Given the description of an element on the screen output the (x, y) to click on. 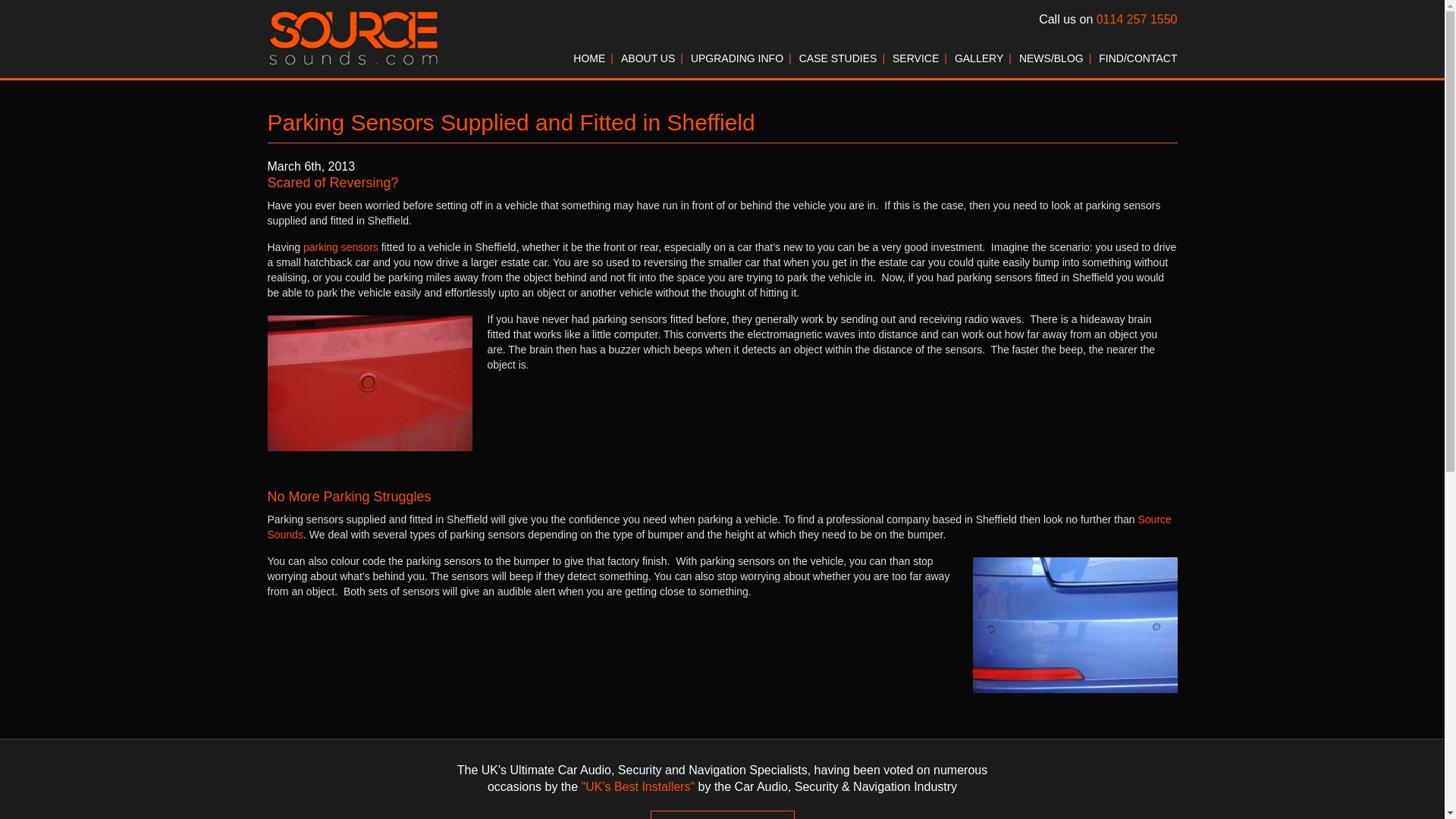
0114 257 1550 (1136, 19)
SERVICE (915, 58)
Find Out Why... (722, 814)
ABOUT US (648, 58)
GALLERY (979, 58)
HOME (589, 58)
Source Sounds (718, 526)
CASE STUDIES (838, 58)
Back to top (1387, 761)
UPGRADING INFO (736, 58)
